Given the description of an element on the screen output the (x, y) to click on. 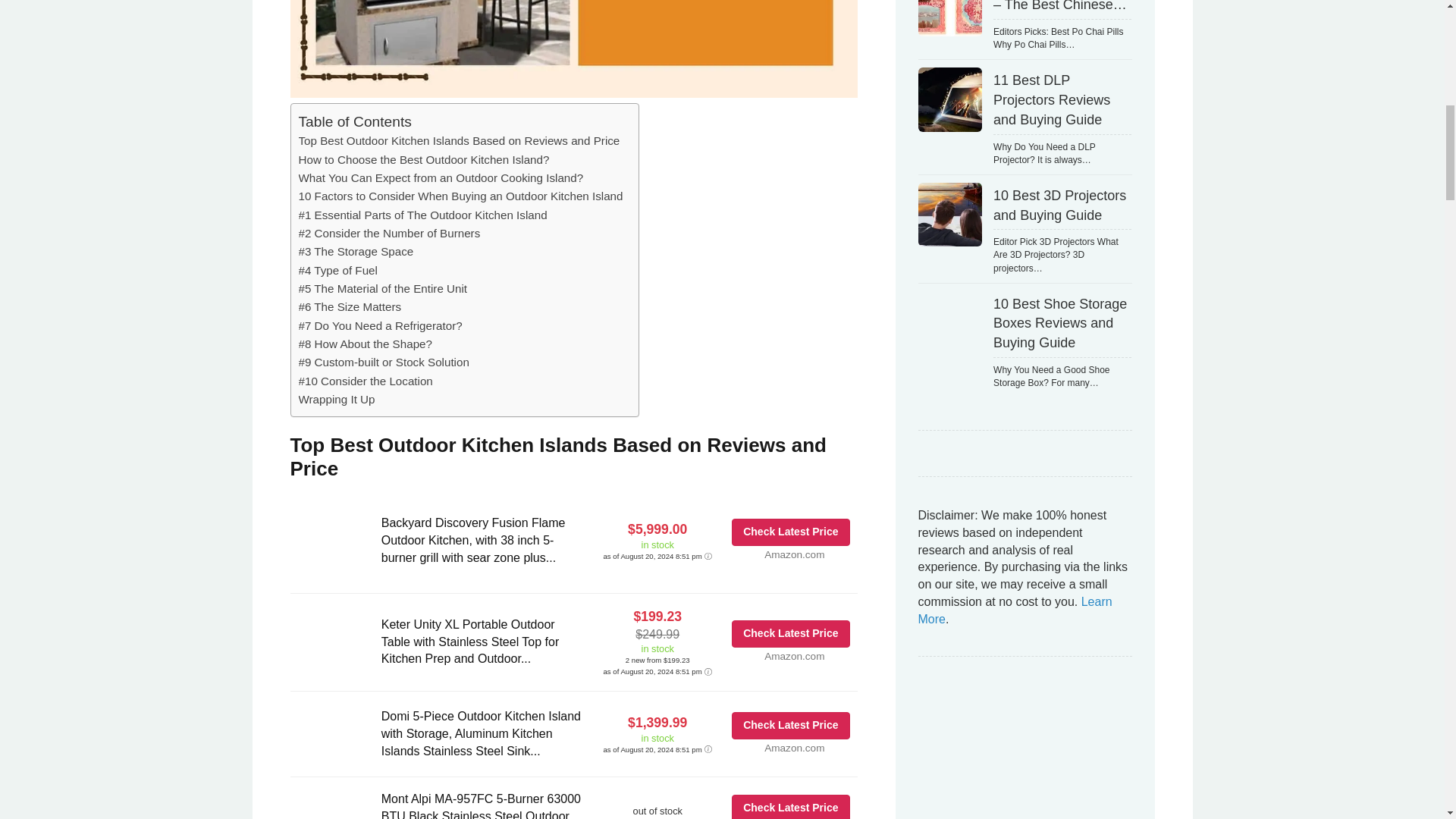
10 Factors to Consider When Buying an Outdoor Kitchen Island (460, 196)
How to Choose the Best Outdoor Kitchen Island? (424, 159)
What You Can Expect from an Outdoor Cooking Island? (440, 177)
Top Best Outdoor Kitchen Islands Based on Reviews and Price (459, 140)
